Given the description of an element on the screen output the (x, y) to click on. 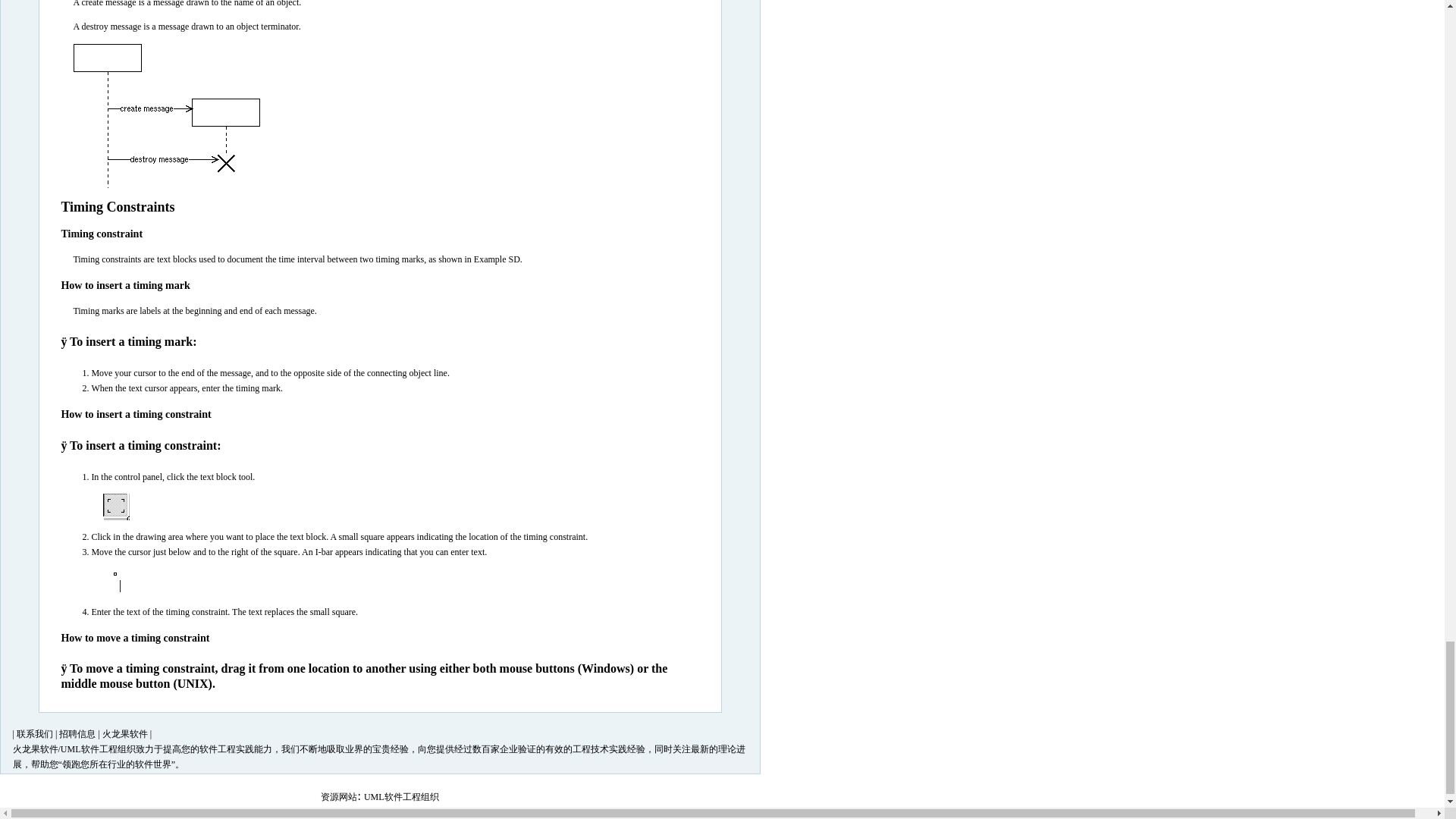
Example SD (496, 258)
